Given the description of an element on the screen output the (x, y) to click on. 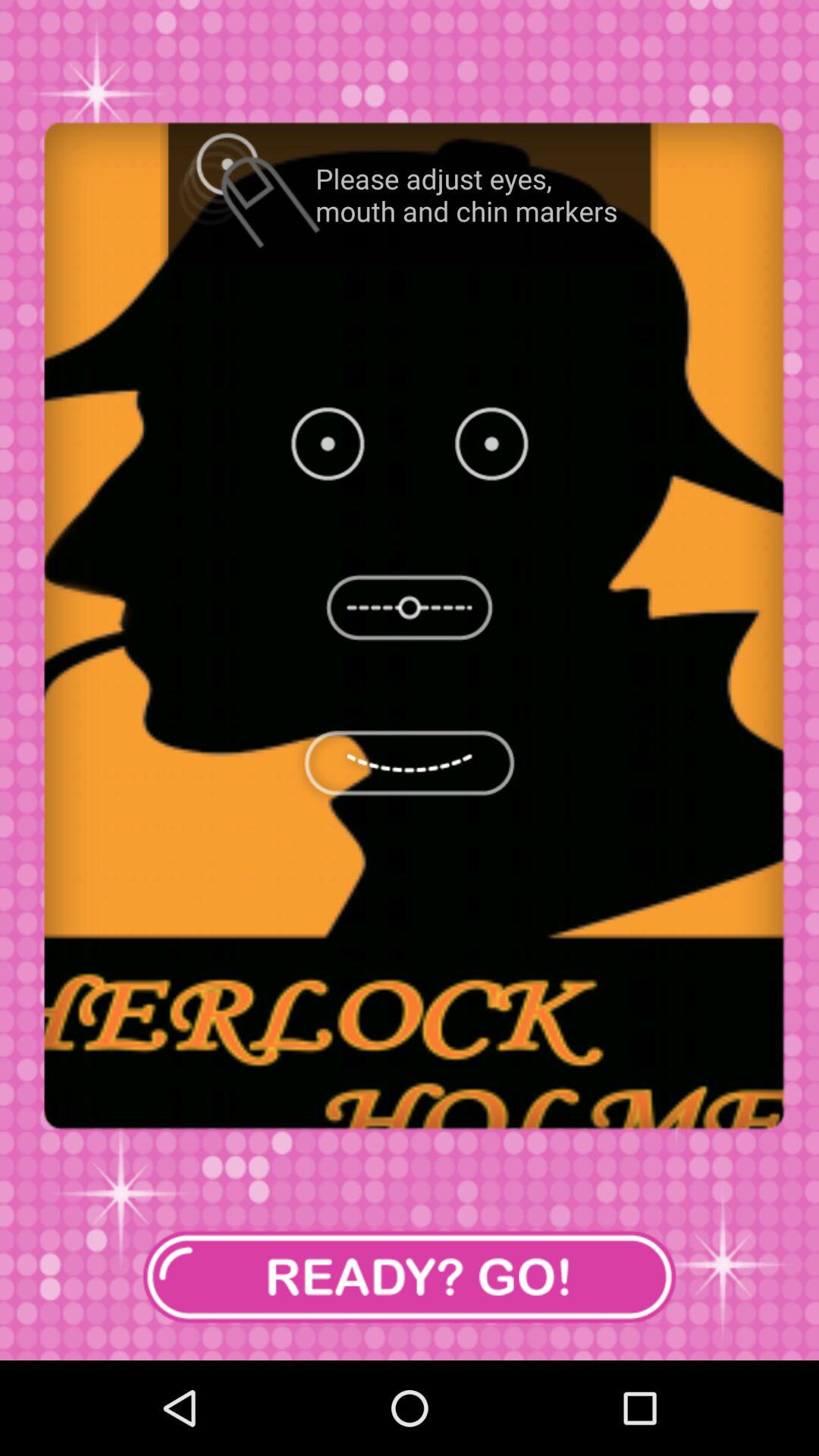
press item at the bottom (409, 1276)
